Given the description of an element on the screen output the (x, y) to click on. 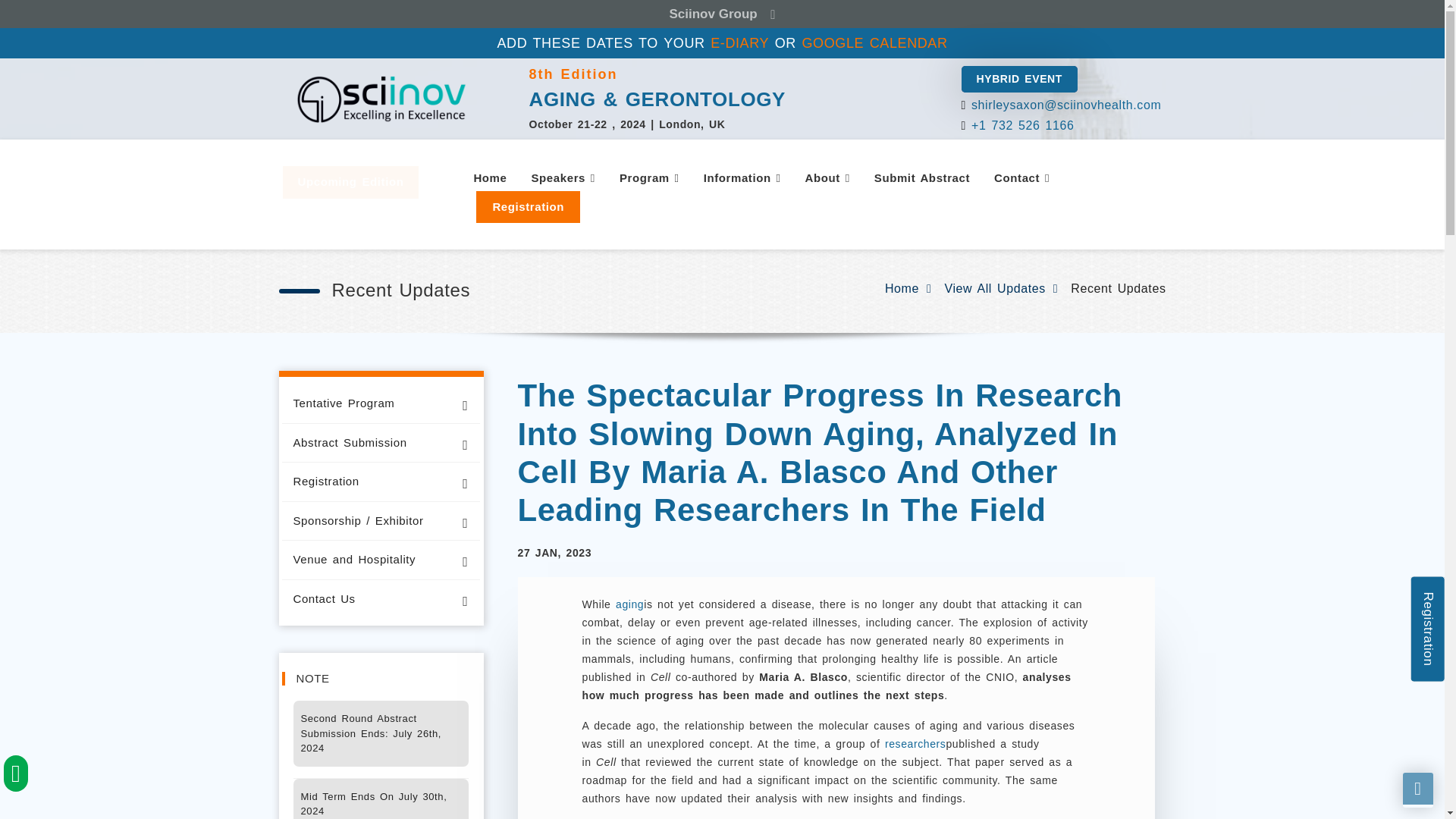
HYBRID EVENT (1018, 79)
Sciinov Group (721, 13)
About (827, 178)
E-DIARY (739, 43)
GOOGLE CALENDAR (874, 43)
Information (742, 178)
logo (722, 99)
Speakers (562, 178)
Home (489, 178)
logo (381, 99)
Upcoming Edition (349, 181)
Submit Abstract (921, 178)
Program (649, 178)
Contact (1021, 178)
